Given the description of an element on the screen output the (x, y) to click on. 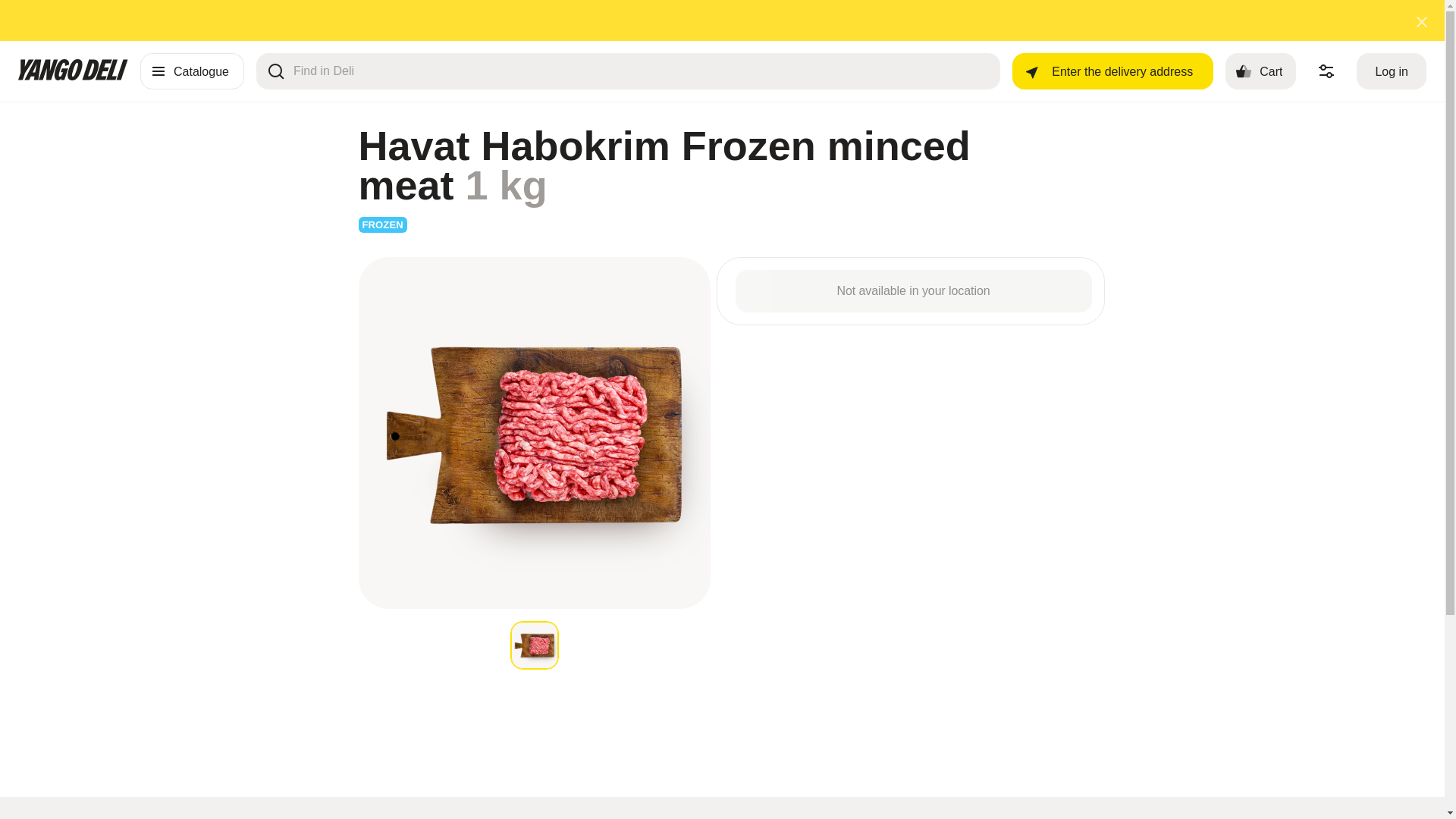
Cart (1391, 71)
Catalogue (1260, 71)
Enter the delivery address (191, 71)
Not available in your location (1111, 71)
